Given the description of an element on the screen output the (x, y) to click on. 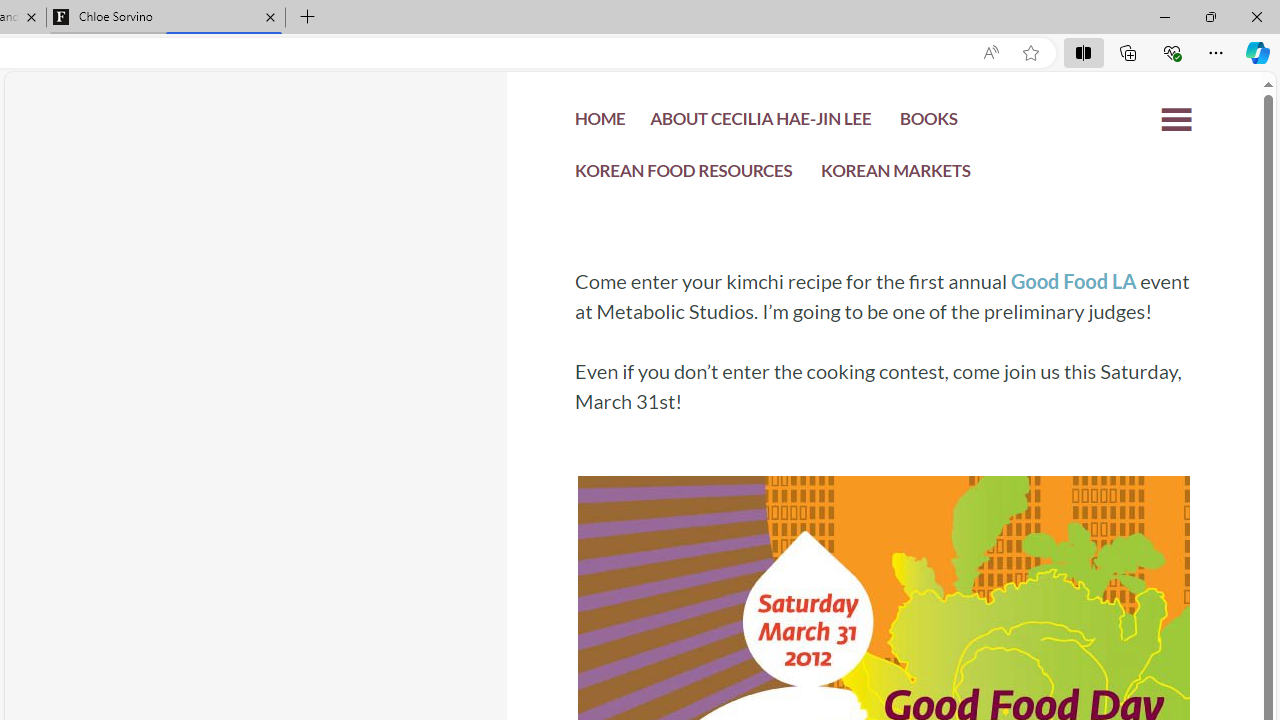
BOOKS (928, 121)
ABOUT CECILIA HAE-JIN LEE (760, 121)
KOREAN MARKETS (895, 175)
HOME (599, 121)
KOREAN FOOD RESOURCES (683, 173)
BOOKS (928, 124)
